Given the description of an element on the screen output the (x, y) to click on. 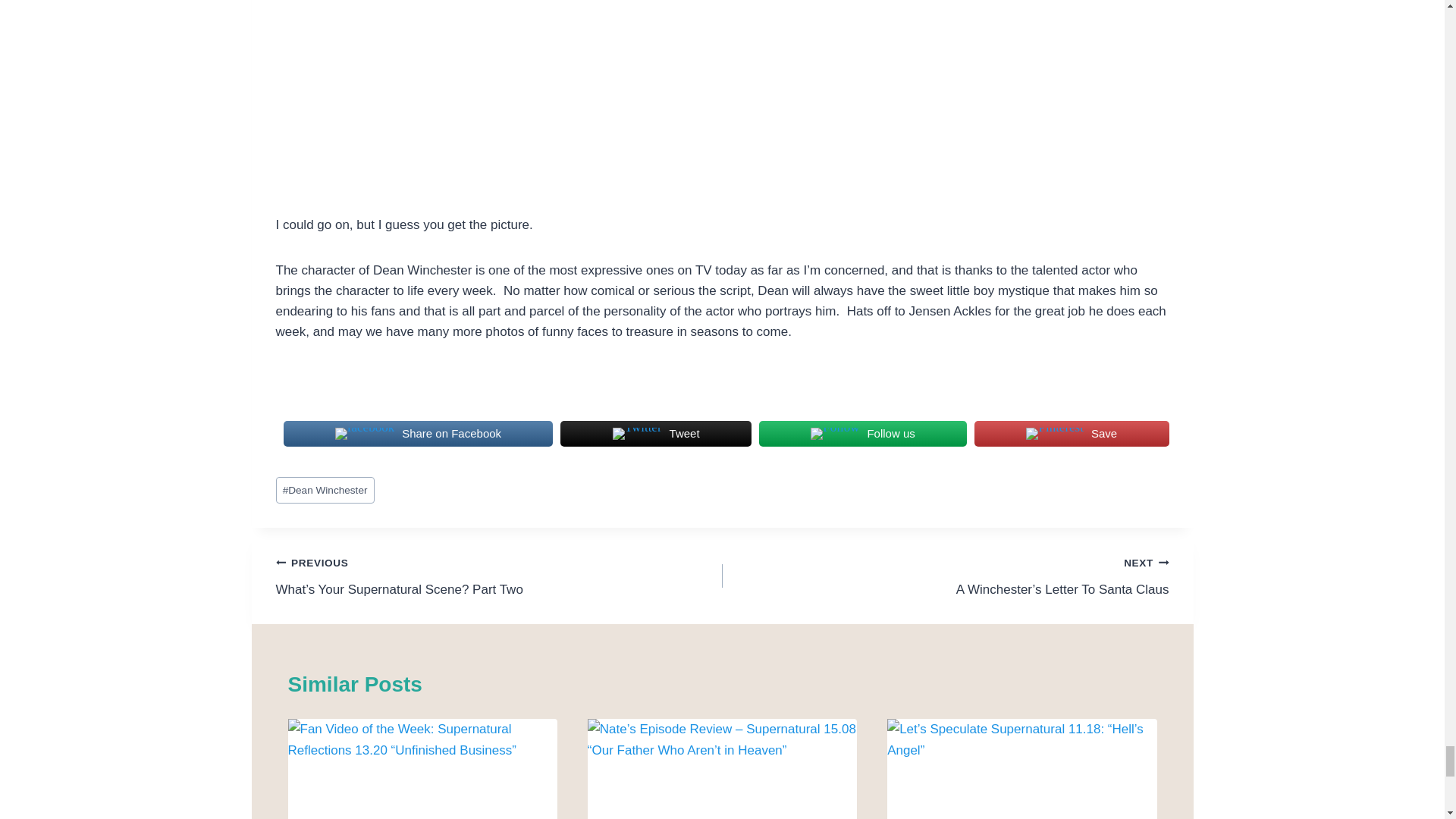
Follow us (862, 433)
Save (1071, 433)
Tweet (655, 433)
Dean Winchester (325, 489)
Share on Facebook (418, 433)
